Given the description of an element on the screen output the (x, y) to click on. 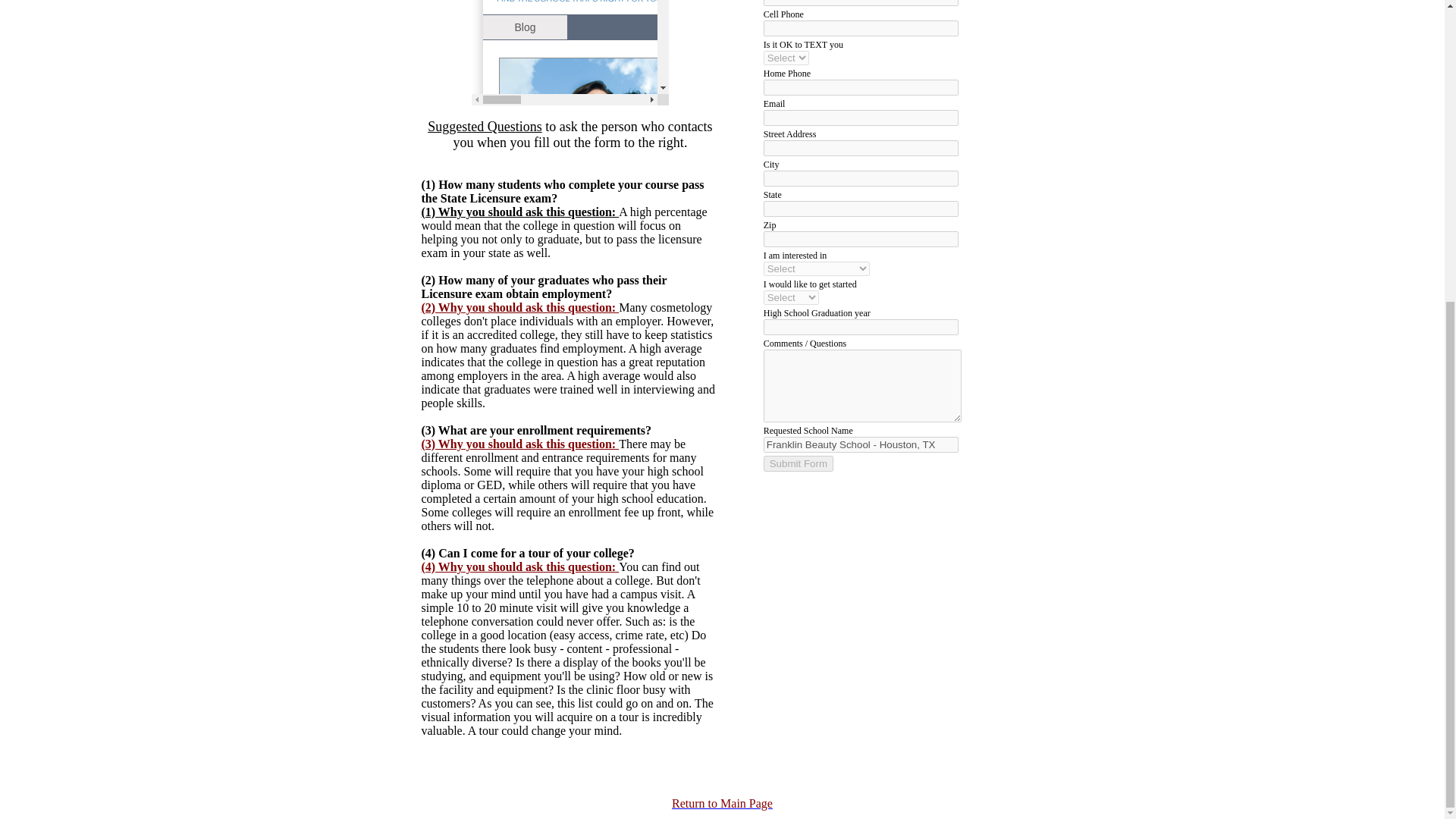
Submit Form (797, 463)
Submit Form (797, 463)
Return to Main Page (722, 802)
Franklin Beauty School - Houston, TX (860, 444)
